Given the description of an element on the screen output the (x, y) to click on. 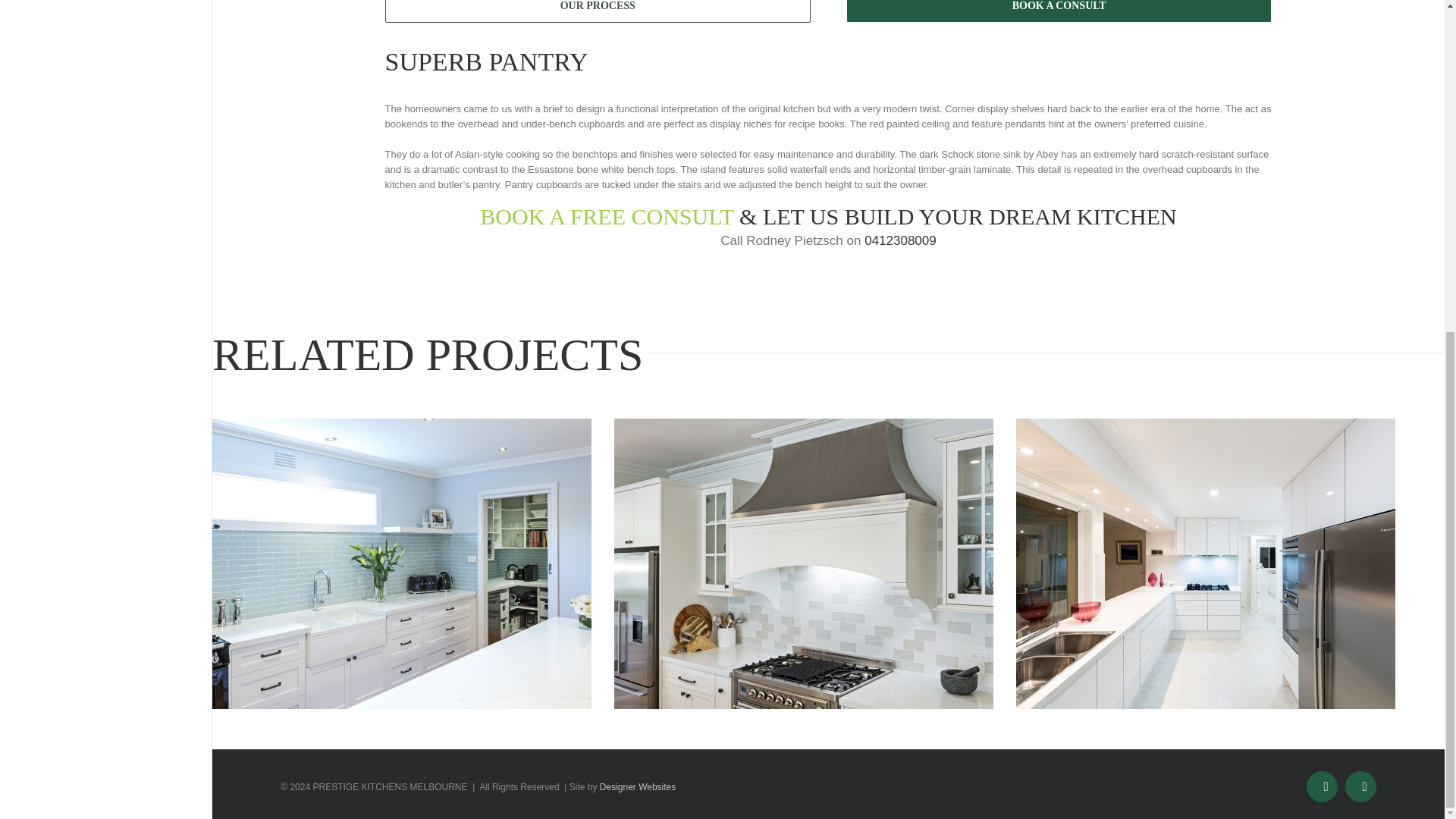
BOOK A CONSULT (1058, 11)
BOOK A FREE CONSULT (609, 216)
OUR PROCESS (597, 11)
0412308009 (900, 240)
